Given the description of an element on the screen output the (x, y) to click on. 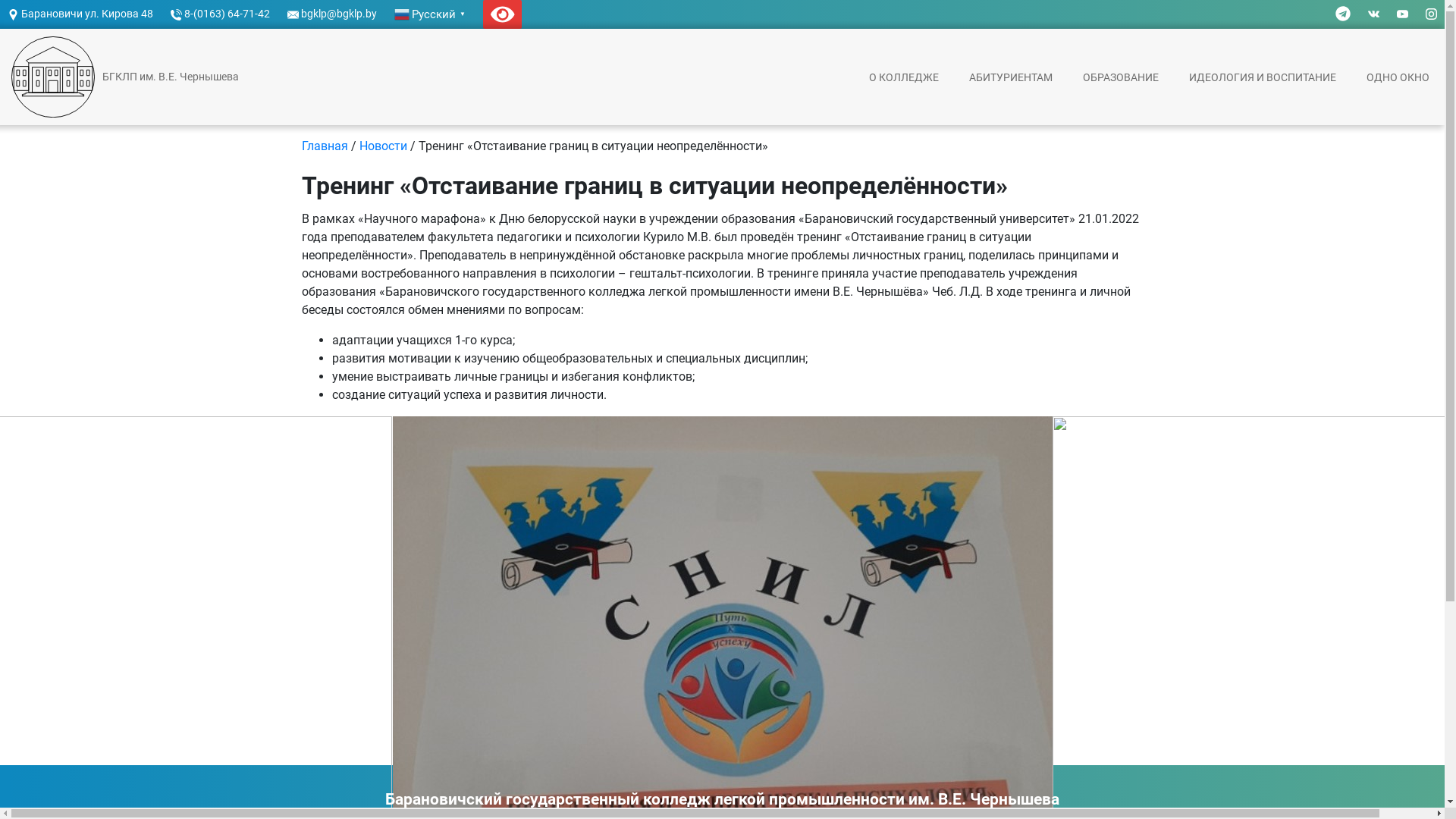
bgklp@bgklp.by Element type: text (331, 13)
8-(0163) 64-71-42 Element type: text (219, 13)
